Given the description of an element on the screen output the (x, y) to click on. 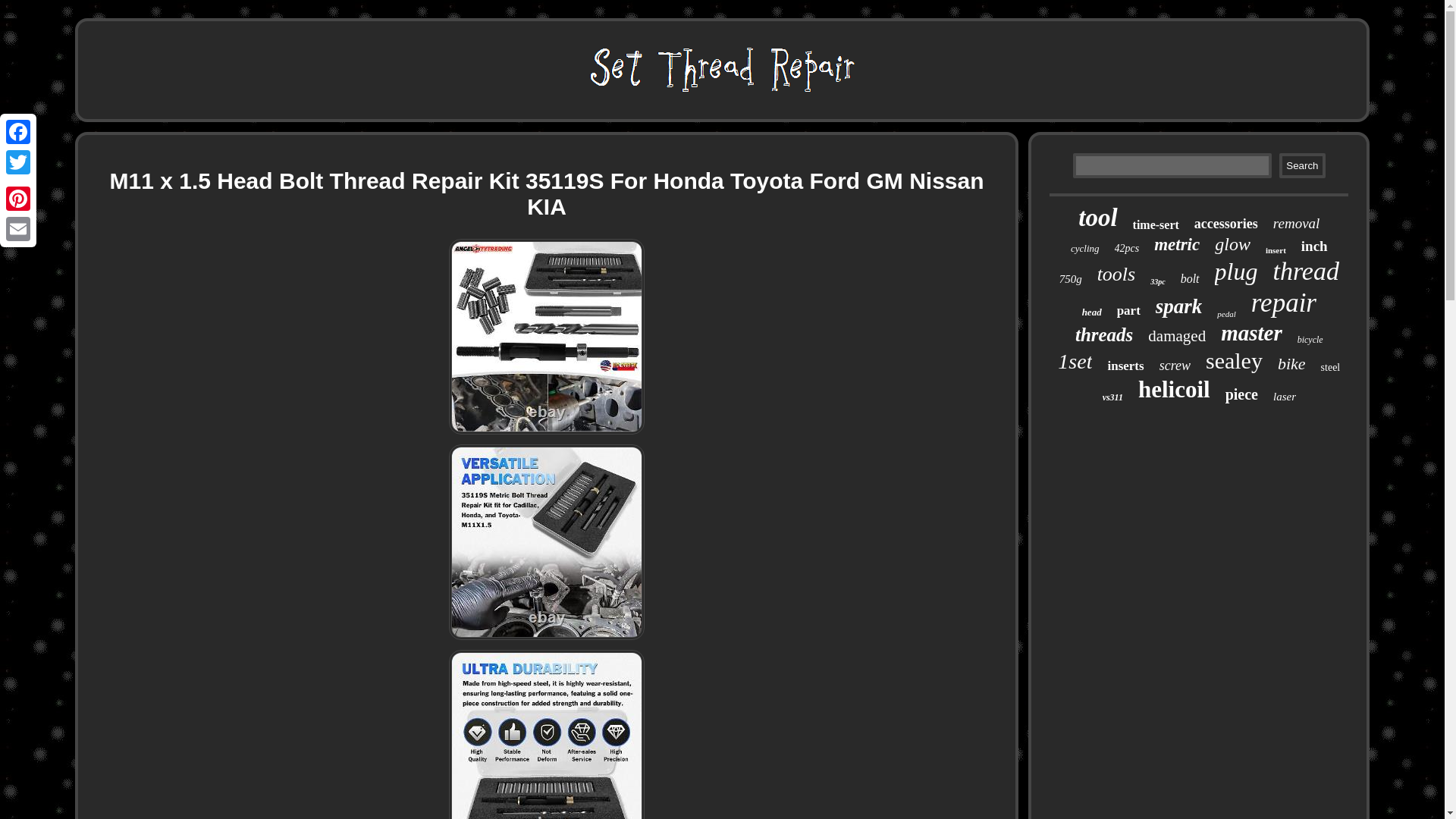
Twitter (17, 162)
time-sert (1155, 224)
Email (17, 228)
bolt (1189, 278)
Facebook (17, 132)
inch (1314, 246)
glow (1232, 244)
insert (1275, 249)
thread (1305, 271)
removal (1296, 223)
Search (1301, 165)
metric (1176, 244)
33pc (1157, 281)
